Given the description of an element on the screen output the (x, y) to click on. 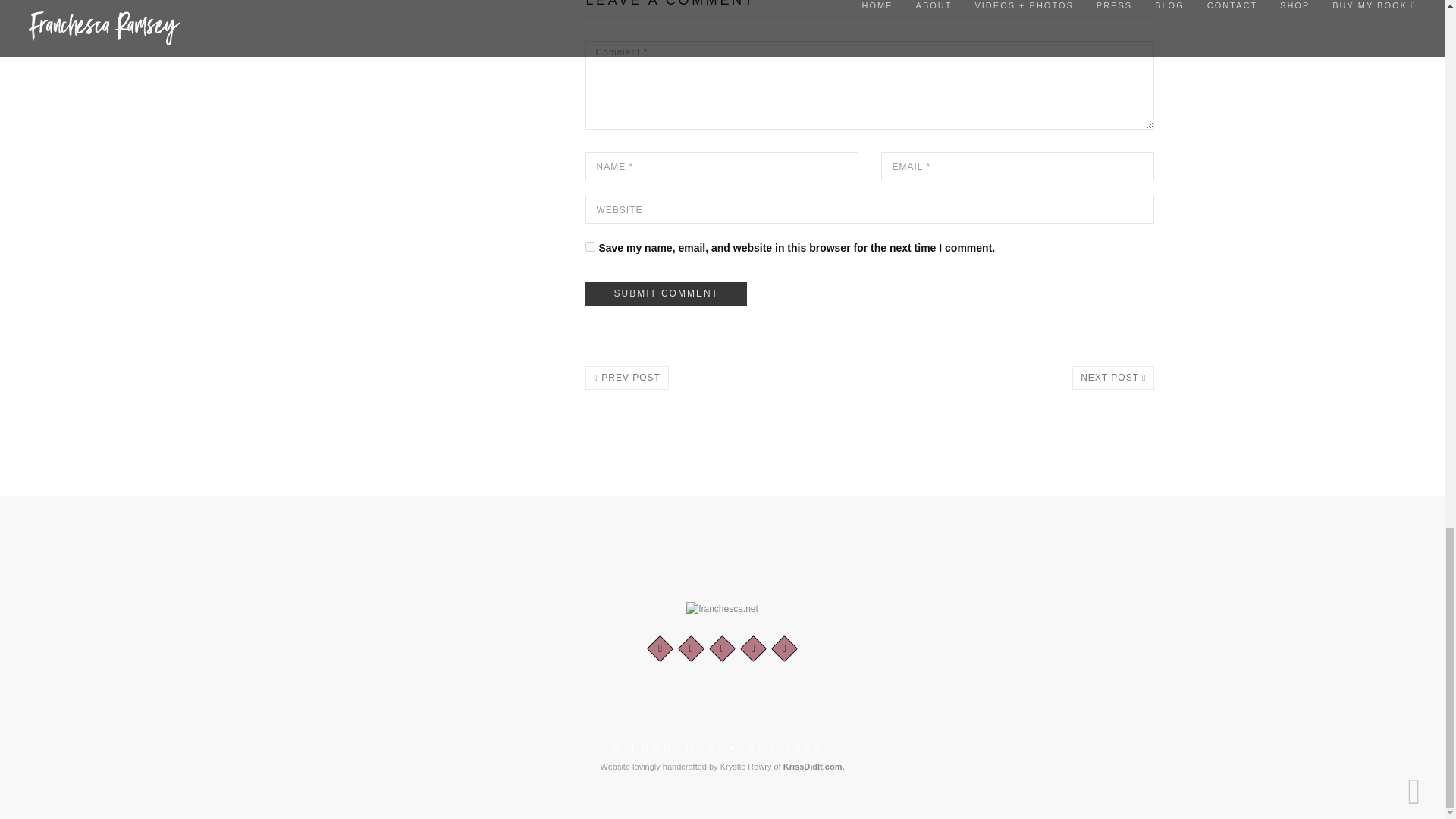
yes (590, 246)
franchesca.net (721, 608)
Submit Comment (665, 293)
 PREV POST (626, 377)
NEXT POST  (1112, 377)
Submit Comment (665, 293)
KrissDidIt.com. (813, 766)
